Given the description of an element on the screen output the (x, y) to click on. 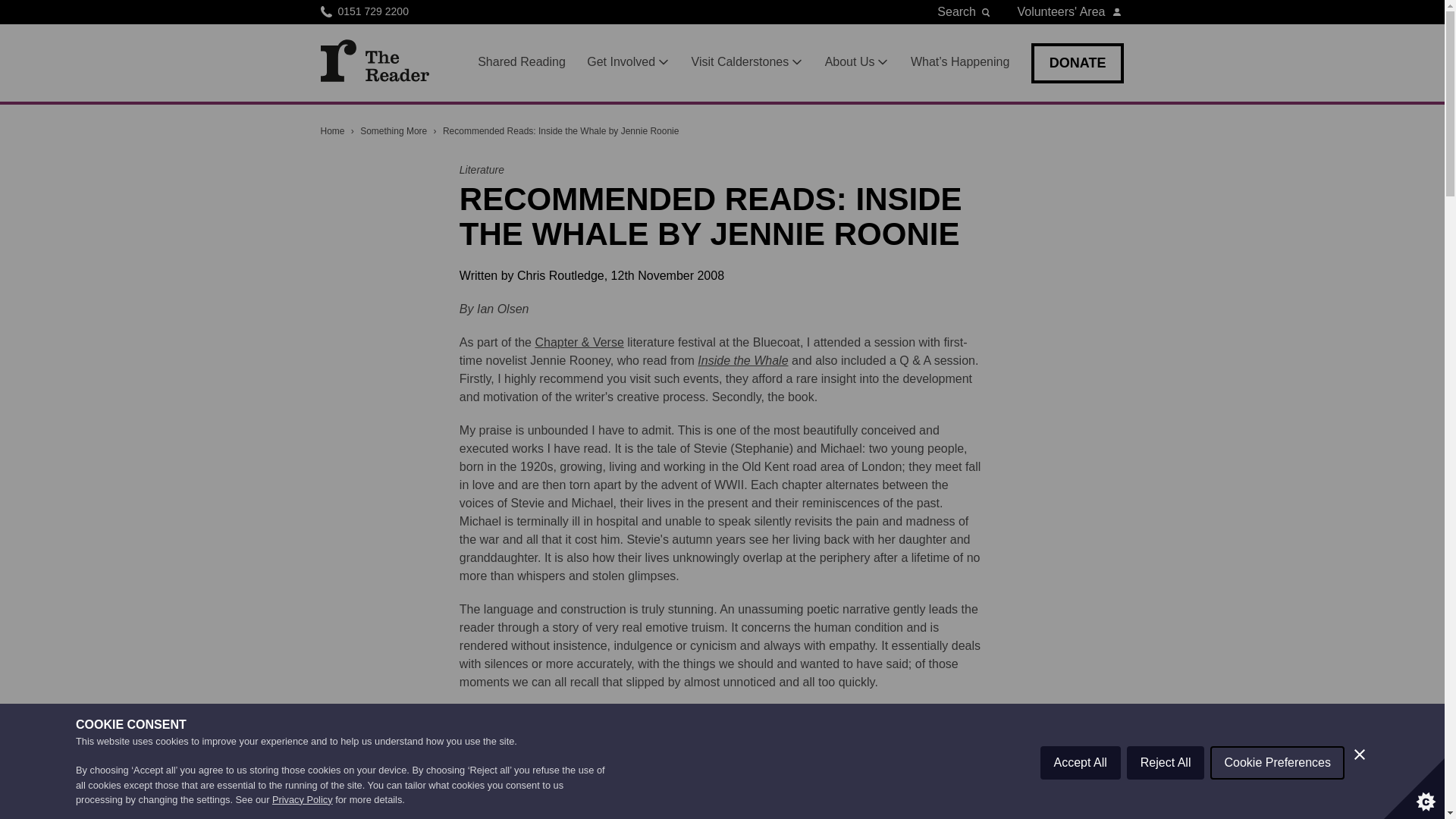
Shared Reading (521, 61)
Reject All (1165, 780)
Get Involved (628, 61)
The Reader (374, 60)
DONATE (1077, 63)
Accept All (1081, 790)
About Us (856, 61)
Visit Calderstones (747, 61)
Cookie Preferences (1276, 774)
